Given the description of an element on the screen output the (x, y) to click on. 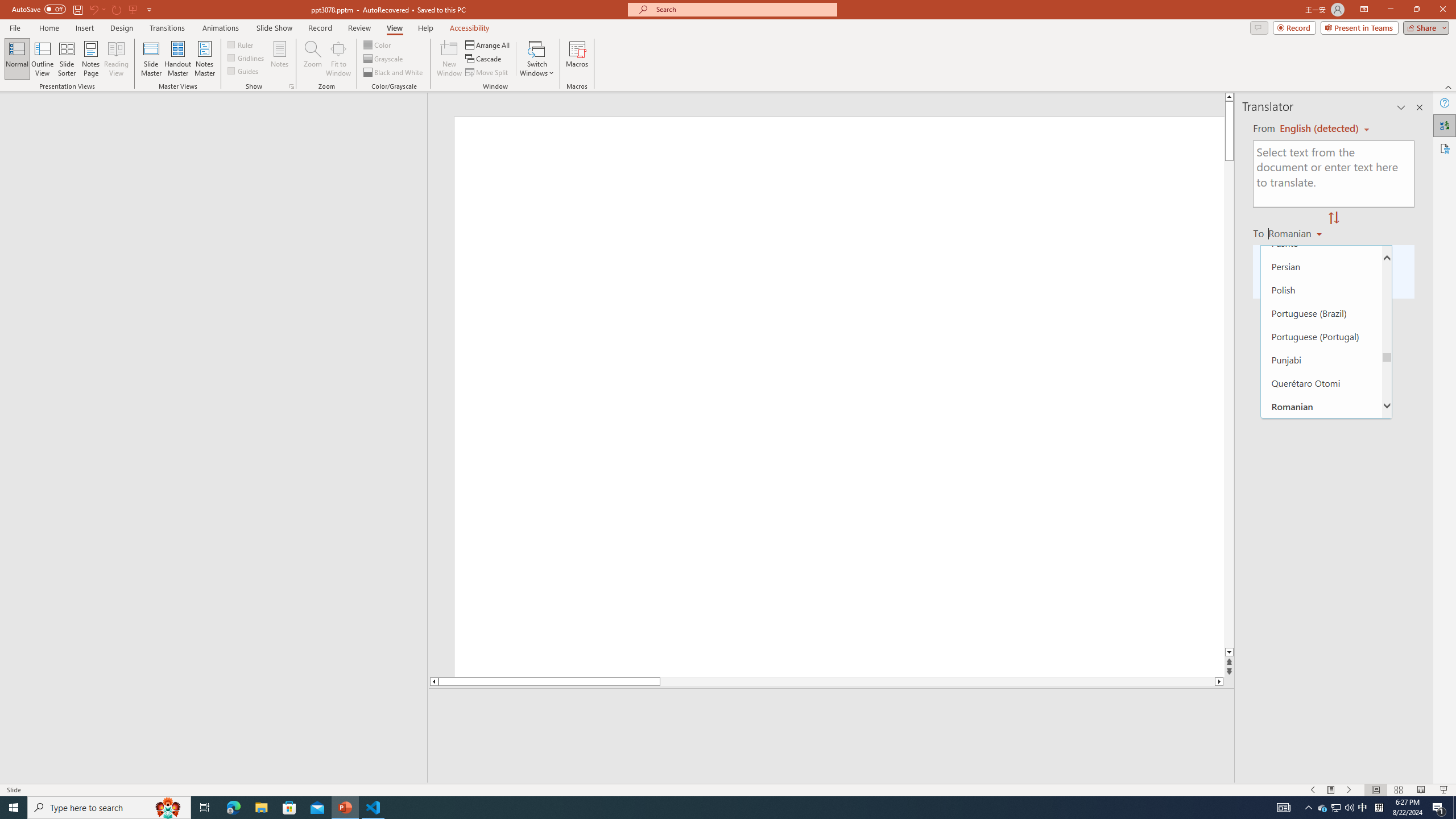
Fit to Window (338, 58)
Serbian (Latin) (1320, 522)
Swahili (1320, 778)
Pashto (1320, 242)
Punjabi (1320, 359)
Color (377, 44)
Menu On (1331, 790)
